Given the description of an element on the screen output the (x, y) to click on. 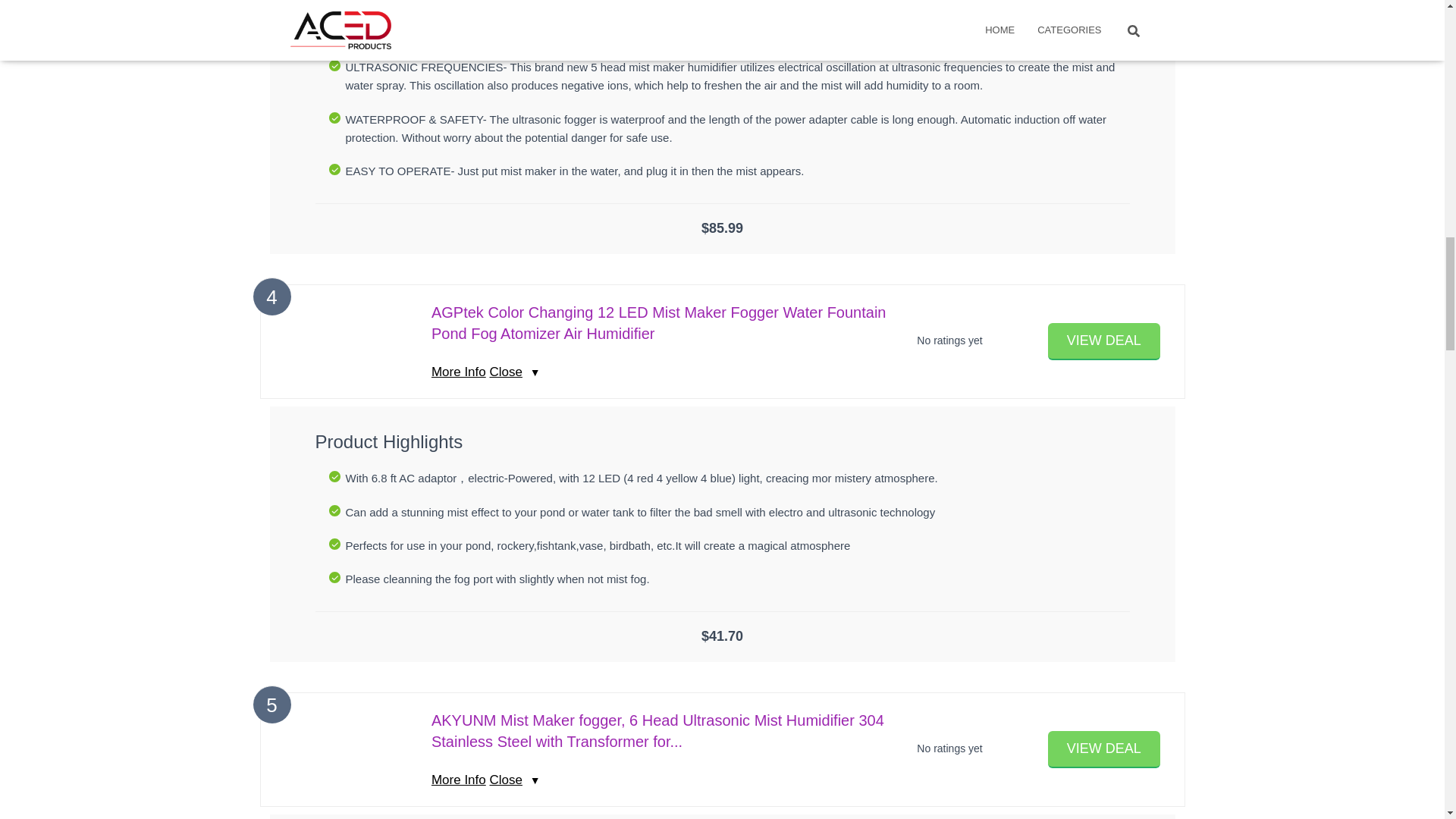
VIEW DEAL (1104, 341)
VIEW DEAL (1104, 341)
VIEW DEAL (1104, 749)
